Given the description of an element on the screen output the (x, y) to click on. 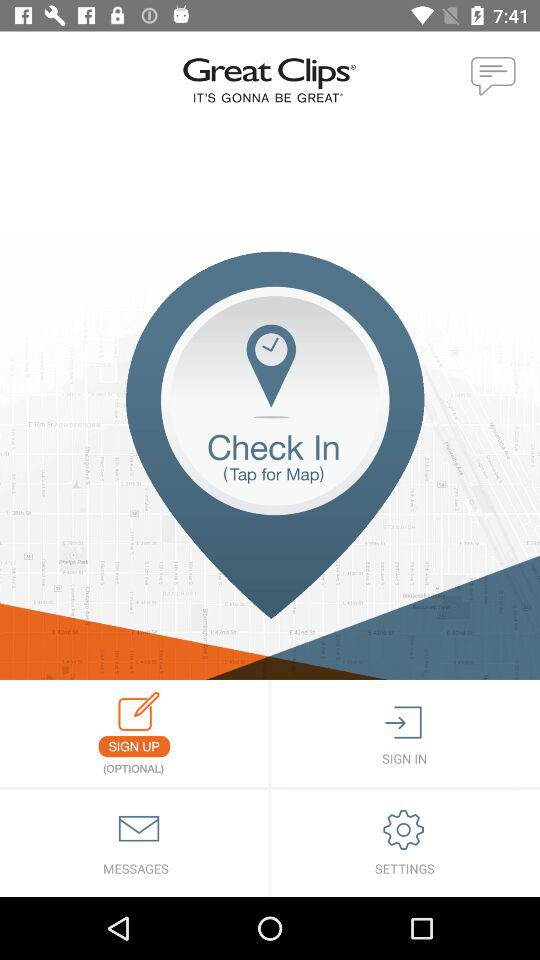
chat (494, 77)
